Given the description of an element on the screen output the (x, y) to click on. 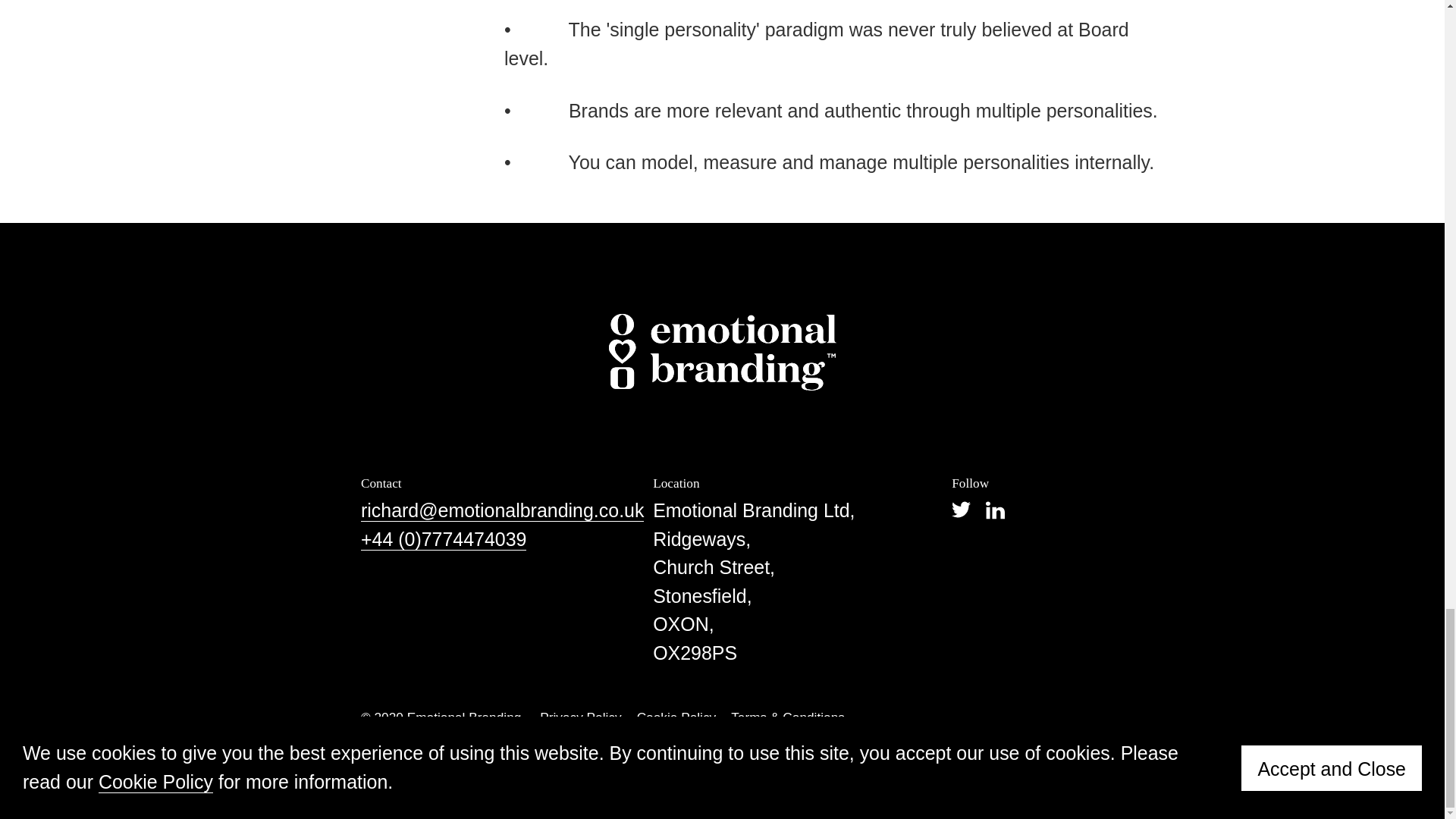
Privacy Policy (580, 717)
Cookie Policy (676, 717)
Follow us on LinkedIn (994, 510)
Follow us on Twitter (961, 510)
